Given the description of an element on the screen output the (x, y) to click on. 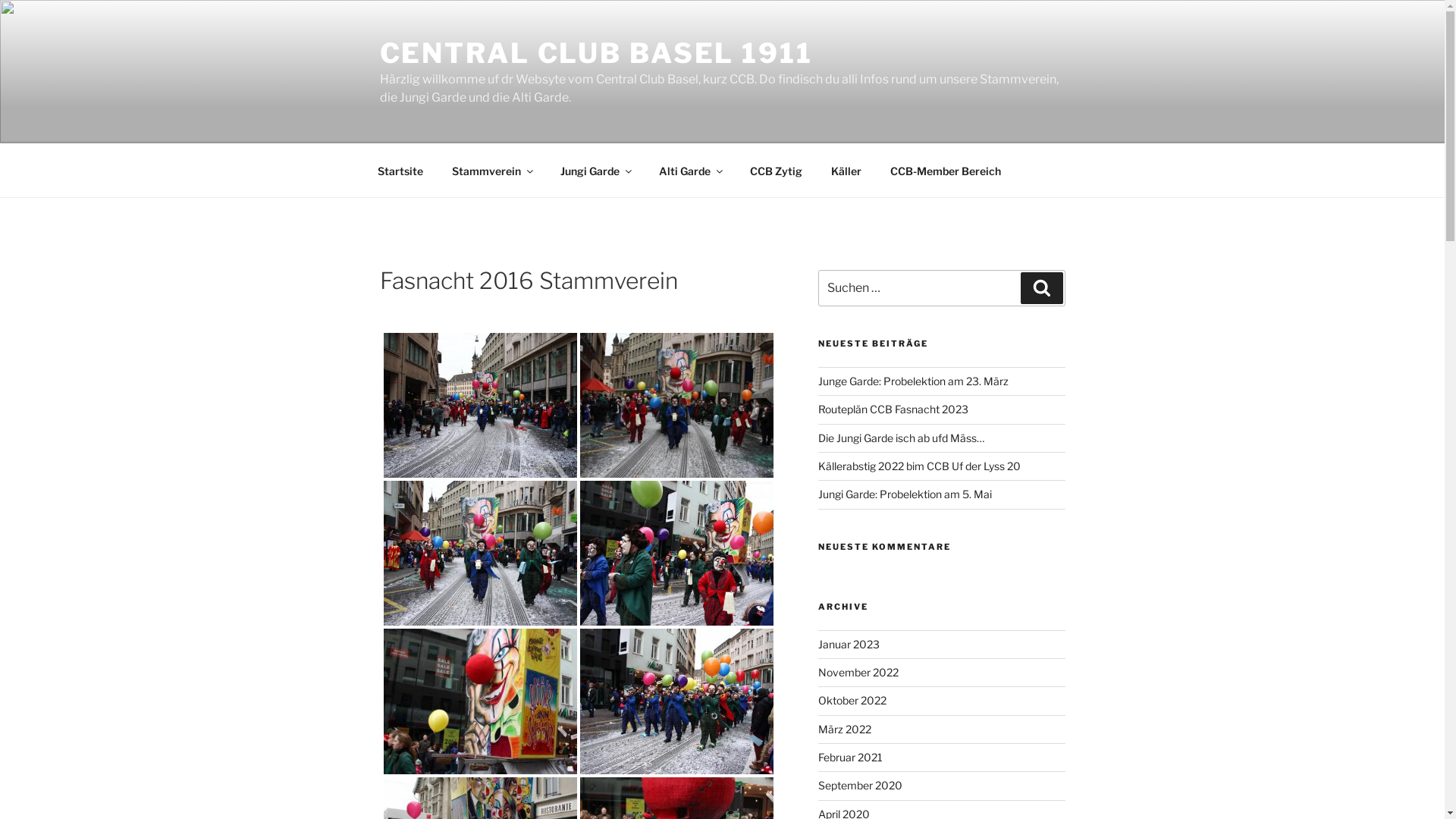
Januar 2023 Element type: text (848, 643)
Jungi Garde: Probelektion am 5. Mai Element type: text (904, 493)
Startsite Element type: text (400, 169)
Alti Garde Element type: text (690, 169)
IMG 8516 Element type: hover (676, 552)
Jungi Garde Element type: text (595, 169)
Oktober 2022 Element type: text (852, 699)
IMG 8511 Element type: hover (479, 404)
CCB Zytig Element type: text (776, 169)
November 2022 Element type: text (858, 671)
September 2020 Element type: text (860, 784)
Februar 2021 Element type: text (850, 756)
IMG 8520 Element type: hover (676, 700)
IMG 8515 Element type: hover (479, 552)
Stammverein Element type: text (491, 169)
IMG 8513 Element type: hover (676, 405)
CENTRAL CLUB BASEL 1911 Element type: text (595, 52)
Suchen Element type: text (1041, 288)
CCB-Member Bereich Element type: text (944, 169)
